Given the description of an element on the screen output the (x, y) to click on. 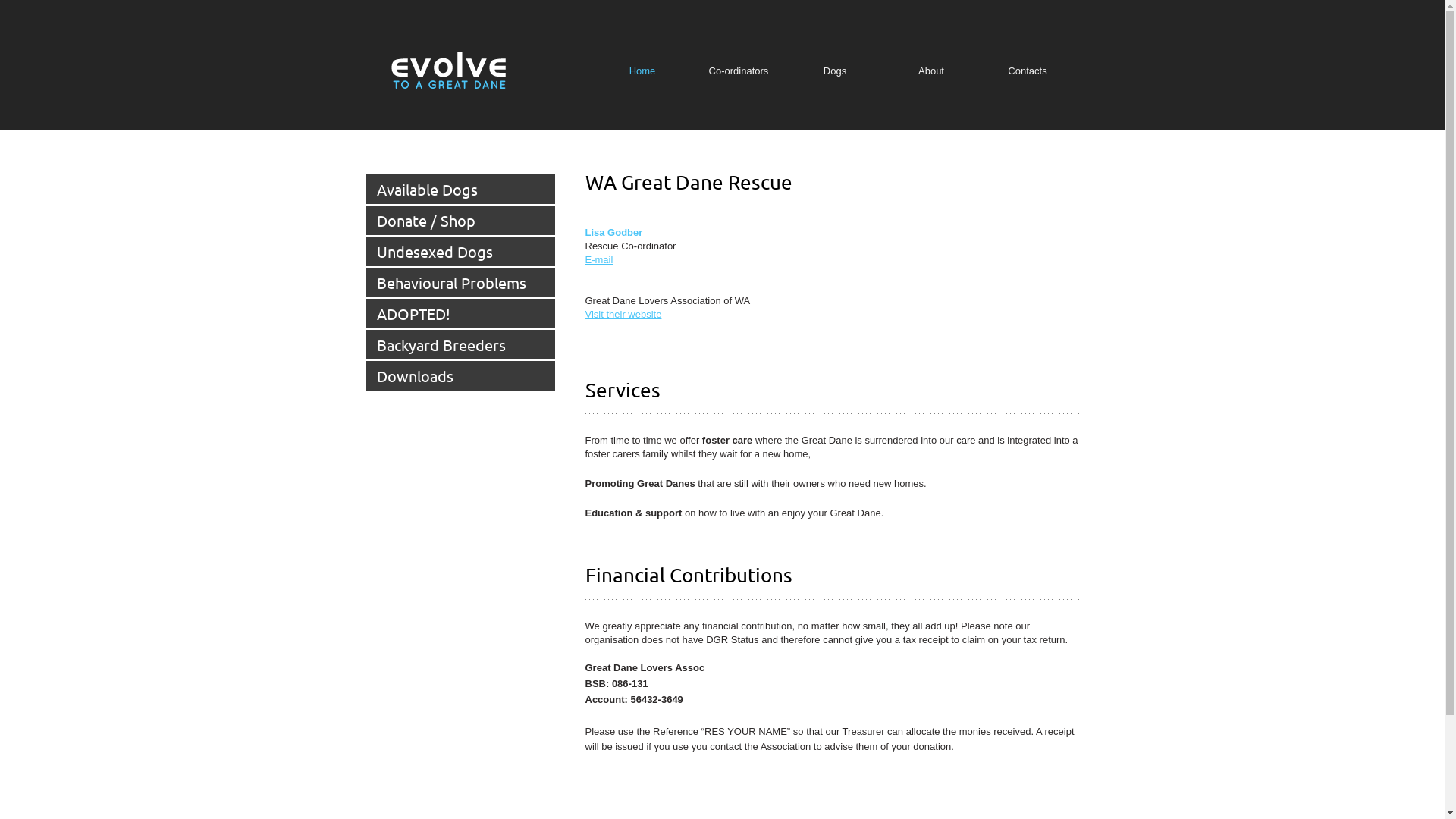
Contacts Element type: text (1027, 71)
Behavioural Problems Element type: text (459, 282)
Co-ordinators Element type: text (738, 71)
Undesexed Dogs Element type: text (459, 251)
Home Element type: text (642, 71)
About Element type: text (930, 71)
Donate / Shop Element type: text (459, 220)
Visit their website Element type: text (623, 314)
Downloads Element type: text (459, 375)
E-mail Element type: text (599, 259)
ADOPTED! Element type: text (459, 313)
Sanjay Element type: text (448, 72)
Available Dogs Element type: text (459, 188)
Dogs Element type: text (835, 71)
Backyard Breeders Element type: text (459, 344)
